Given the description of an element on the screen output the (x, y) to click on. 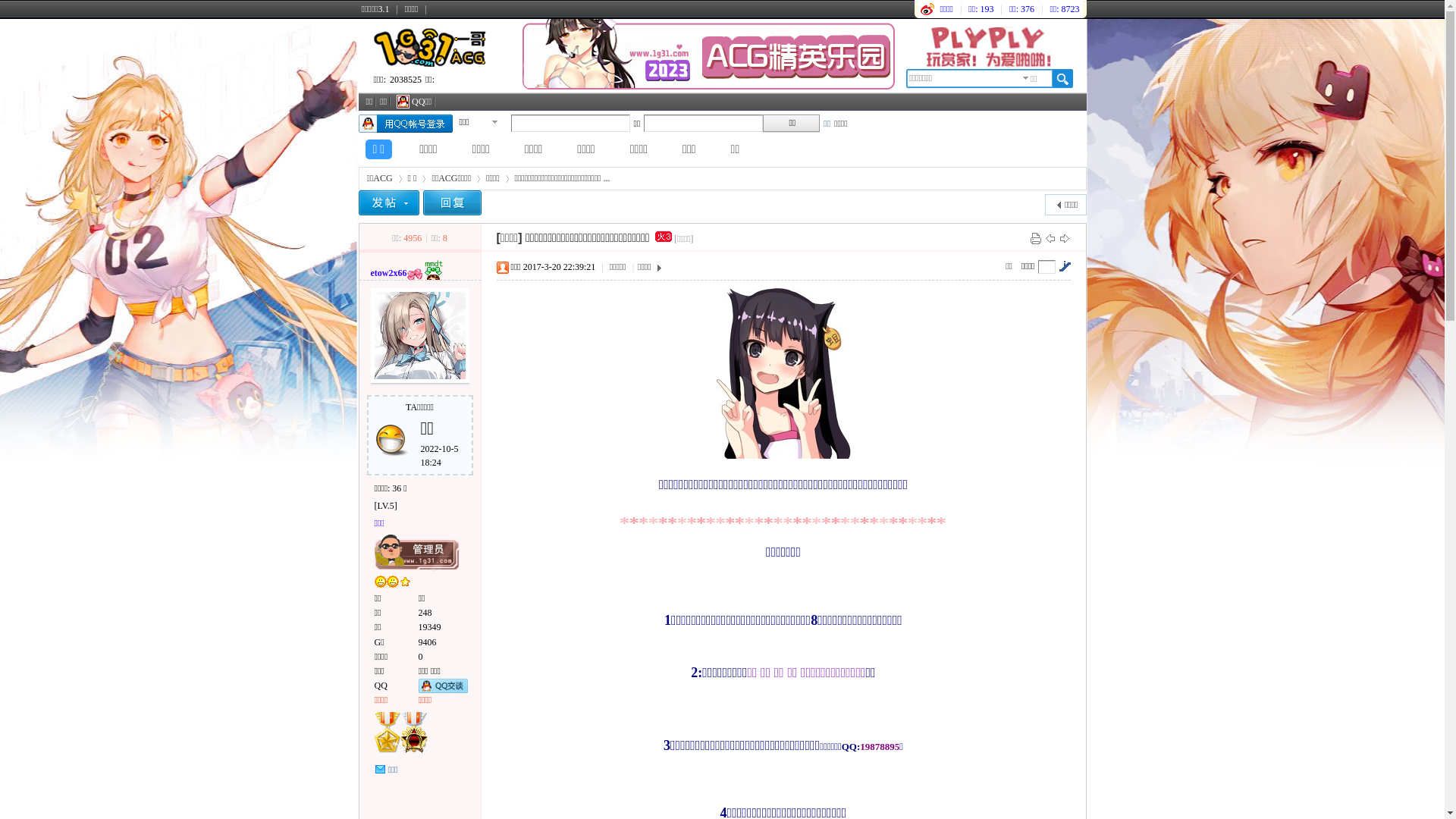
true Element type: text (1062, 78)
etow2x66 Element type: text (388, 272)
